Given the description of an element on the screen output the (x, y) to click on. 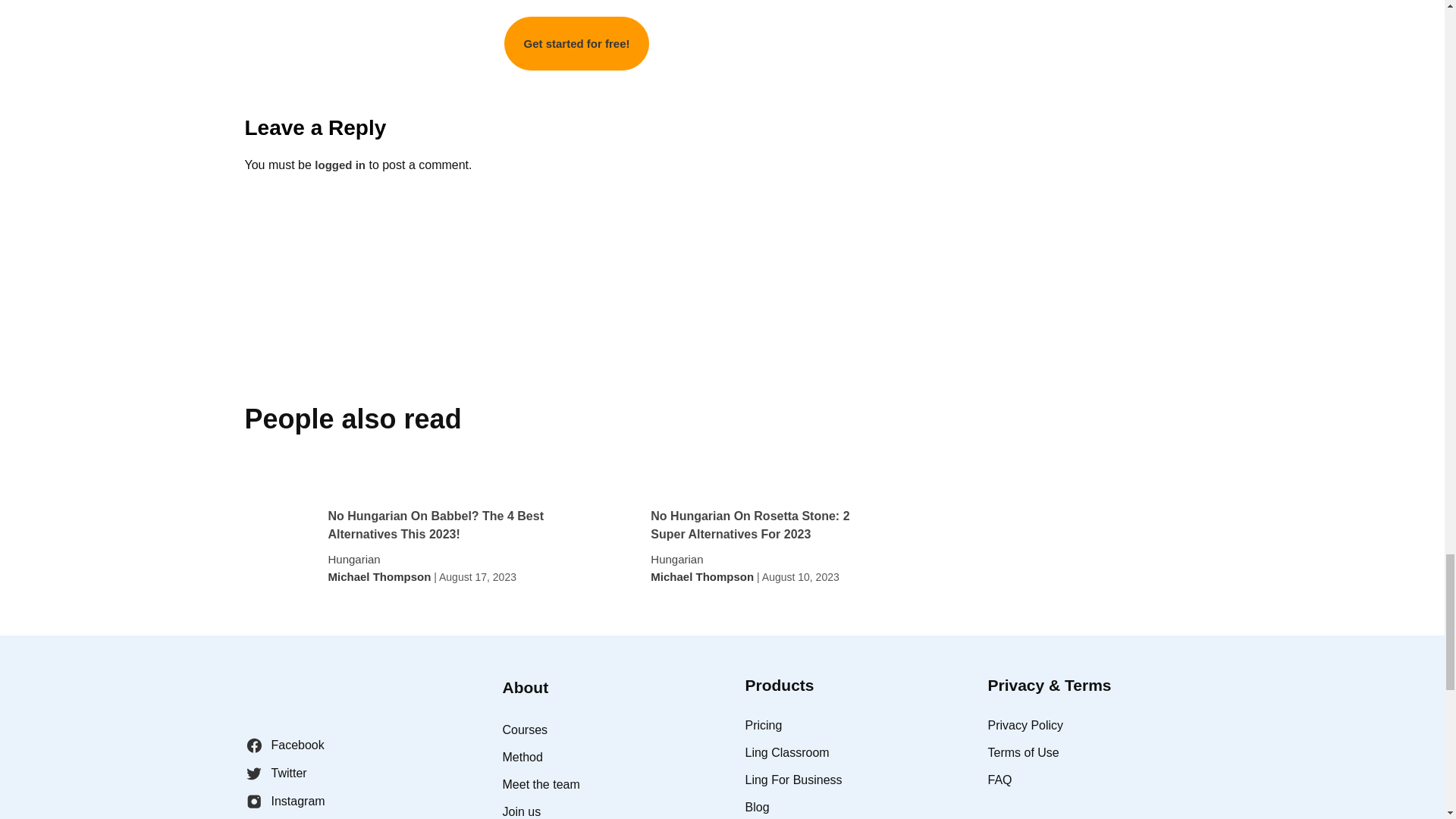
No Hungarian On Rosetta Stone: 2 Super Alternatives For 2023 (762, 524)
Get started for free! (575, 43)
logged in (339, 164)
No Hungarian On Babbel? The 4 Best Alternatives This 2023! (439, 524)
